Given the description of an element on the screen output the (x, y) to click on. 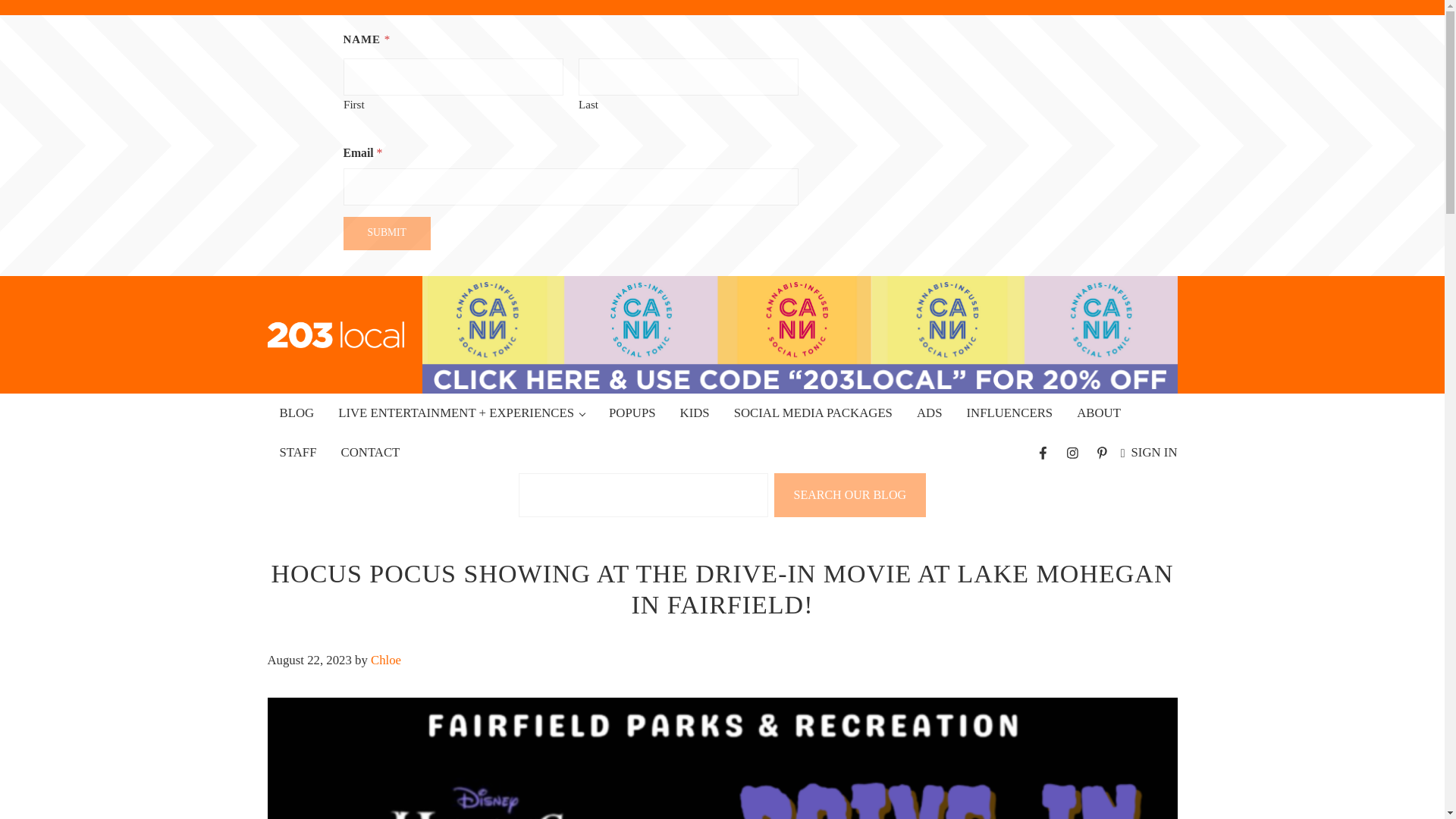
SIGN IN (1149, 452)
INFLUENCERS (1008, 413)
ADS (929, 413)
Chloe (386, 658)
BLOG (296, 413)
ABOUT (1098, 413)
SEARCH OUR BLOG (850, 494)
POPUPS (632, 413)
KIDS (695, 413)
SOCIAL MEDIA PACKAGES (813, 413)
CONTACT (370, 452)
SUBMIT (385, 233)
STAFF (297, 452)
